Given the description of an element on the screen output the (x, y) to click on. 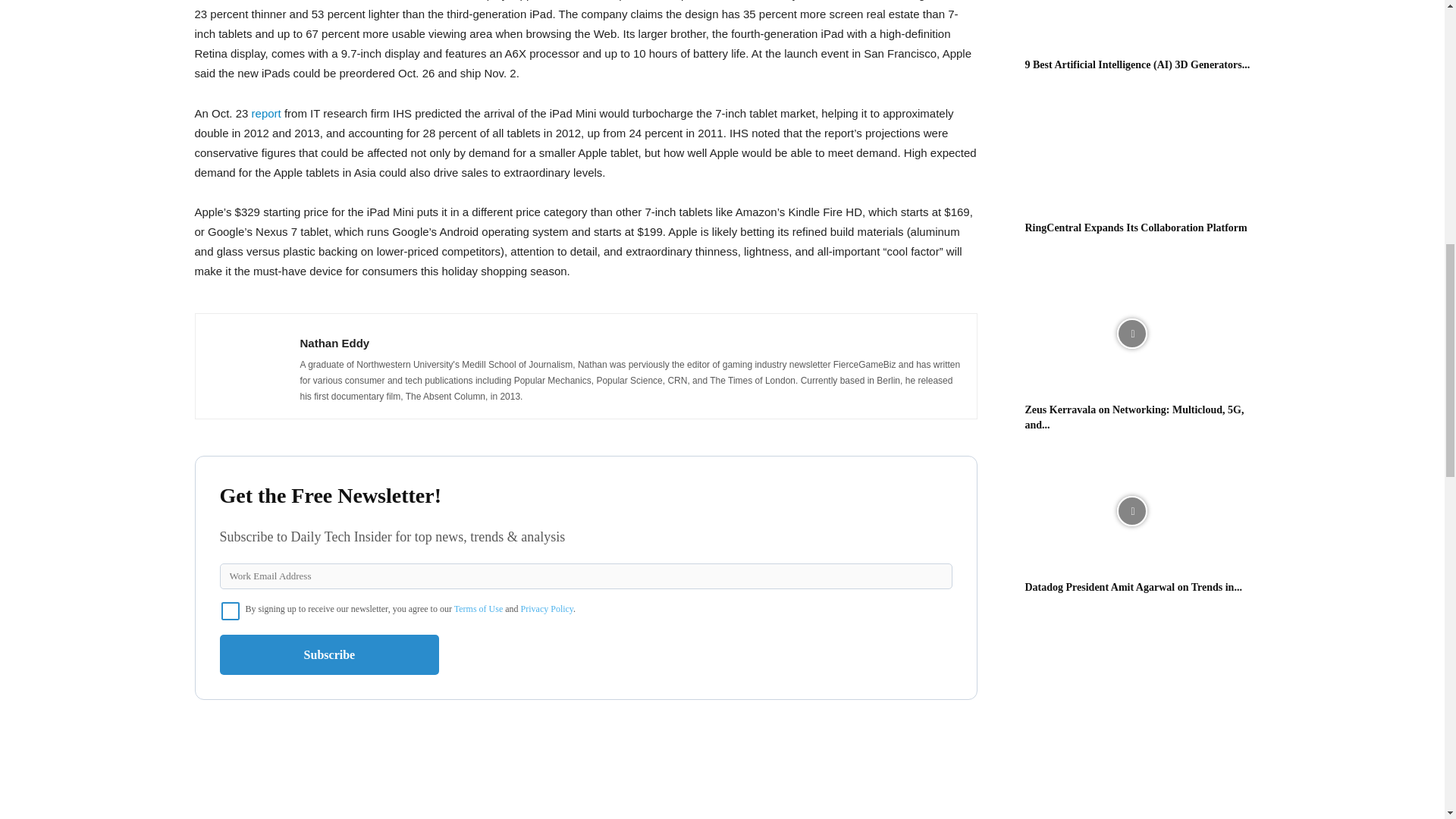
RingCentral Expands Its Collaboration Platform (1131, 151)
on (230, 610)
RingCentral Expands Its Collaboration Platform (1136, 227)
Zeus Kerravala on Networking: Multicloud, 5G, and Automation (1131, 333)
Zeus Kerravala on Networking: Multicloud, 5G, and Automation (1134, 417)
